Given the description of an element on the screen output the (x, y) to click on. 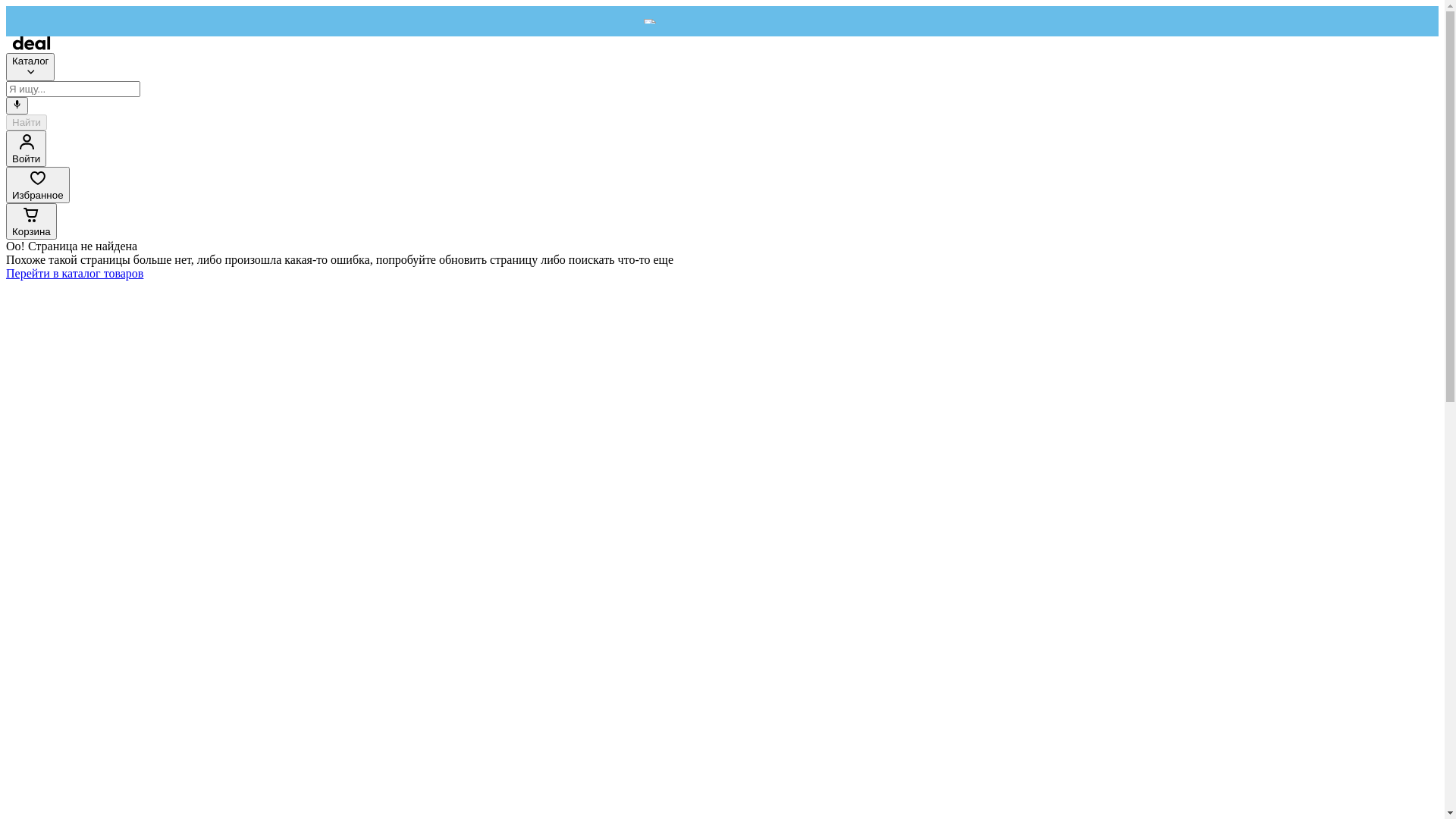
deal.by Element type: hover (31, 45)
